Given the description of an element on the screen output the (x, y) to click on. 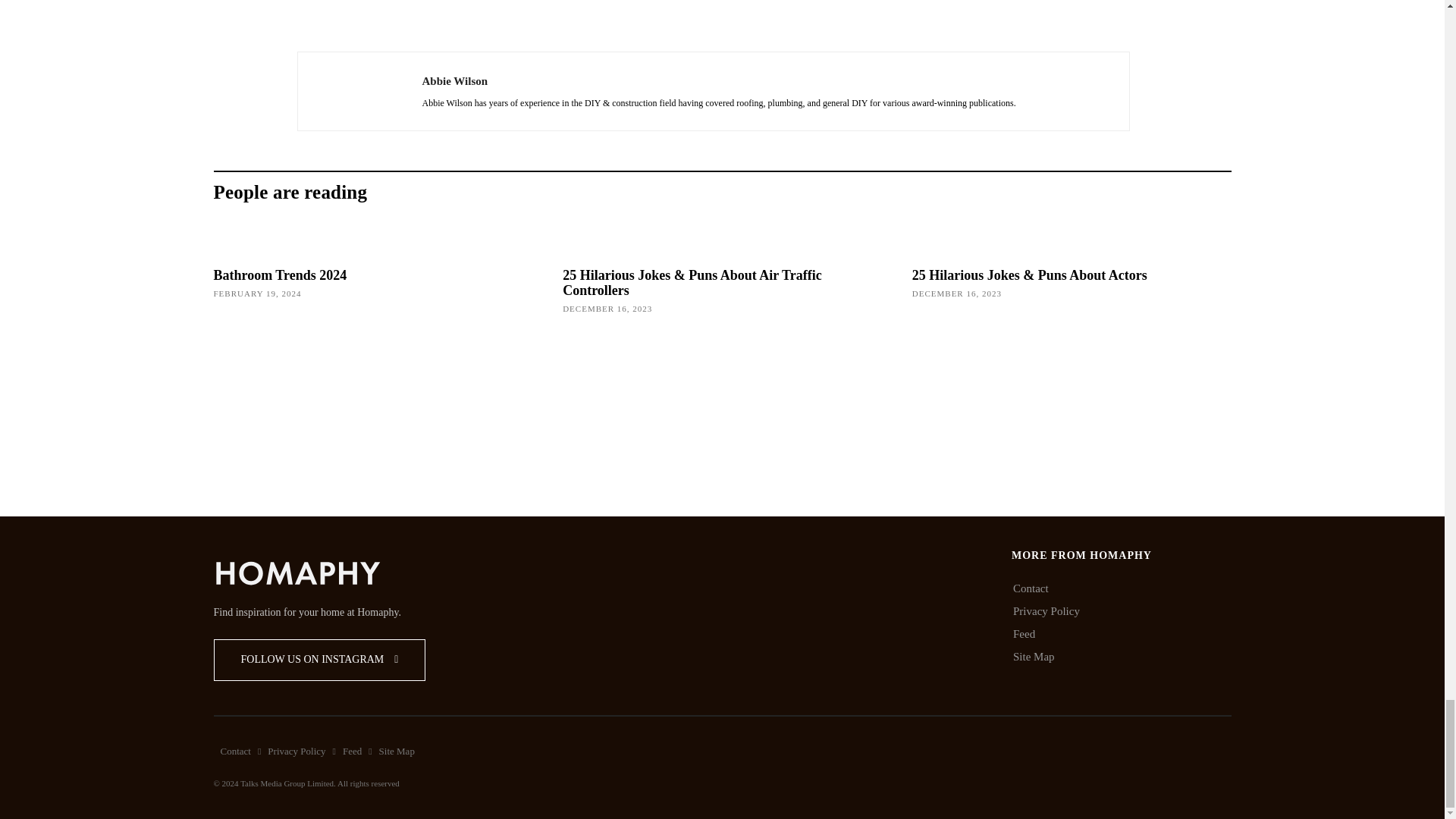
Bathroom Trends 2024 (373, 375)
Bathroom Trends 2024 (280, 274)
Abbie Wilson (360, 90)
